Given the description of an element on the screen output the (x, y) to click on. 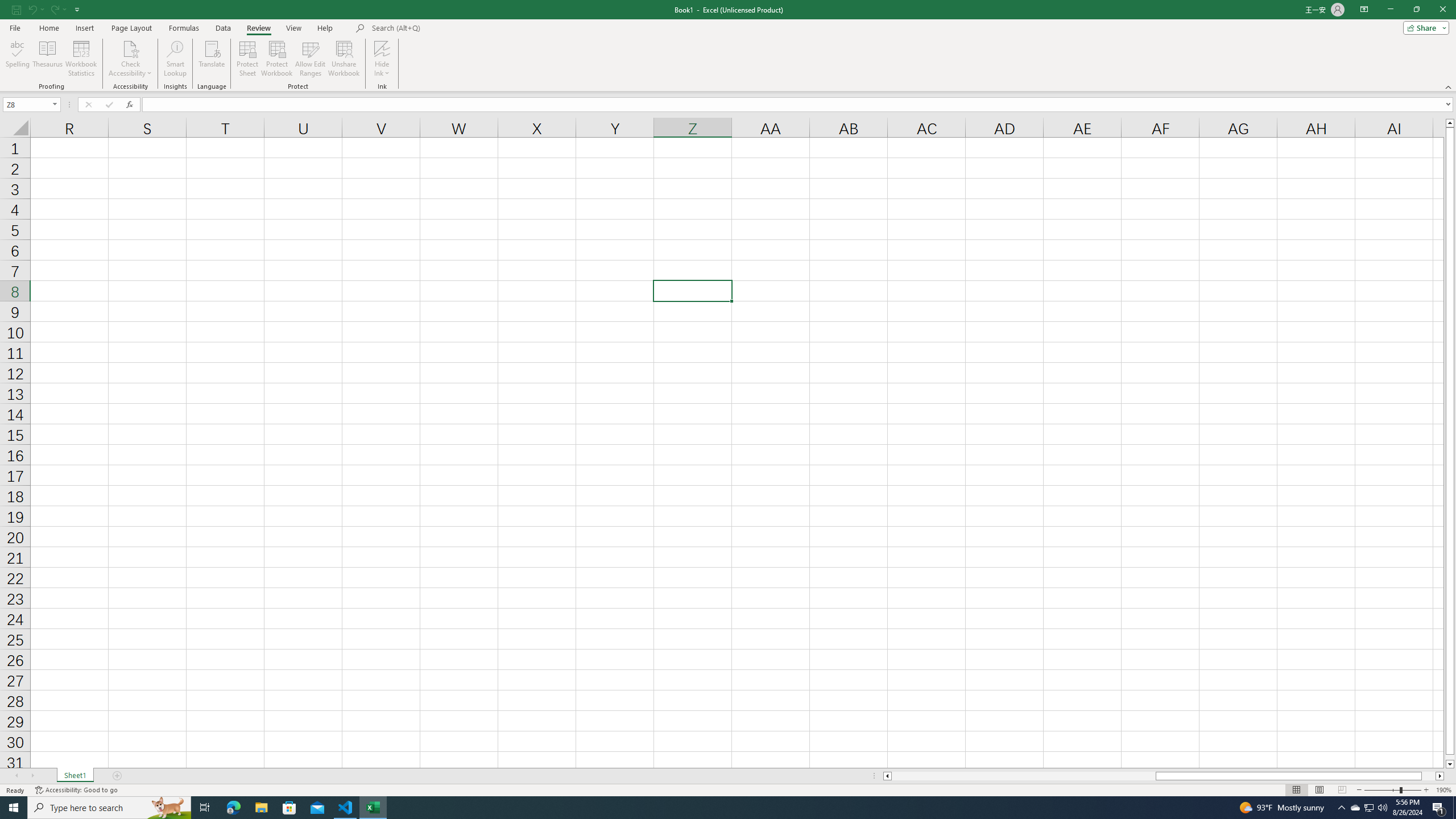
Protect Sheet... (247, 58)
Allow Edit Ranges (310, 58)
Thesaurus... (47, 58)
Spelling... (17, 58)
